Given the description of an element on the screen output the (x, y) to click on. 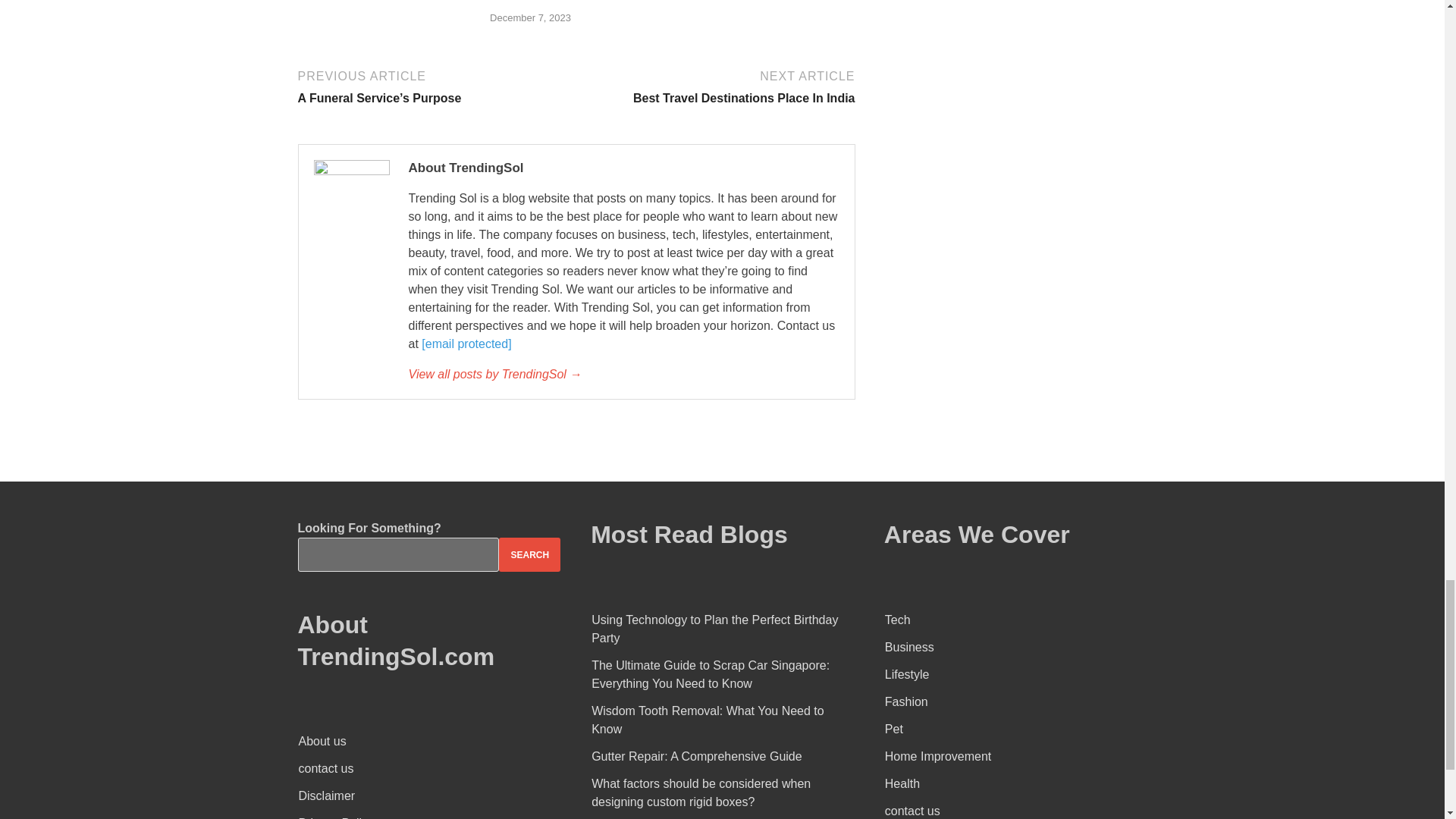
TrendingSol (717, 85)
